Given the description of an element on the screen output the (x, y) to click on. 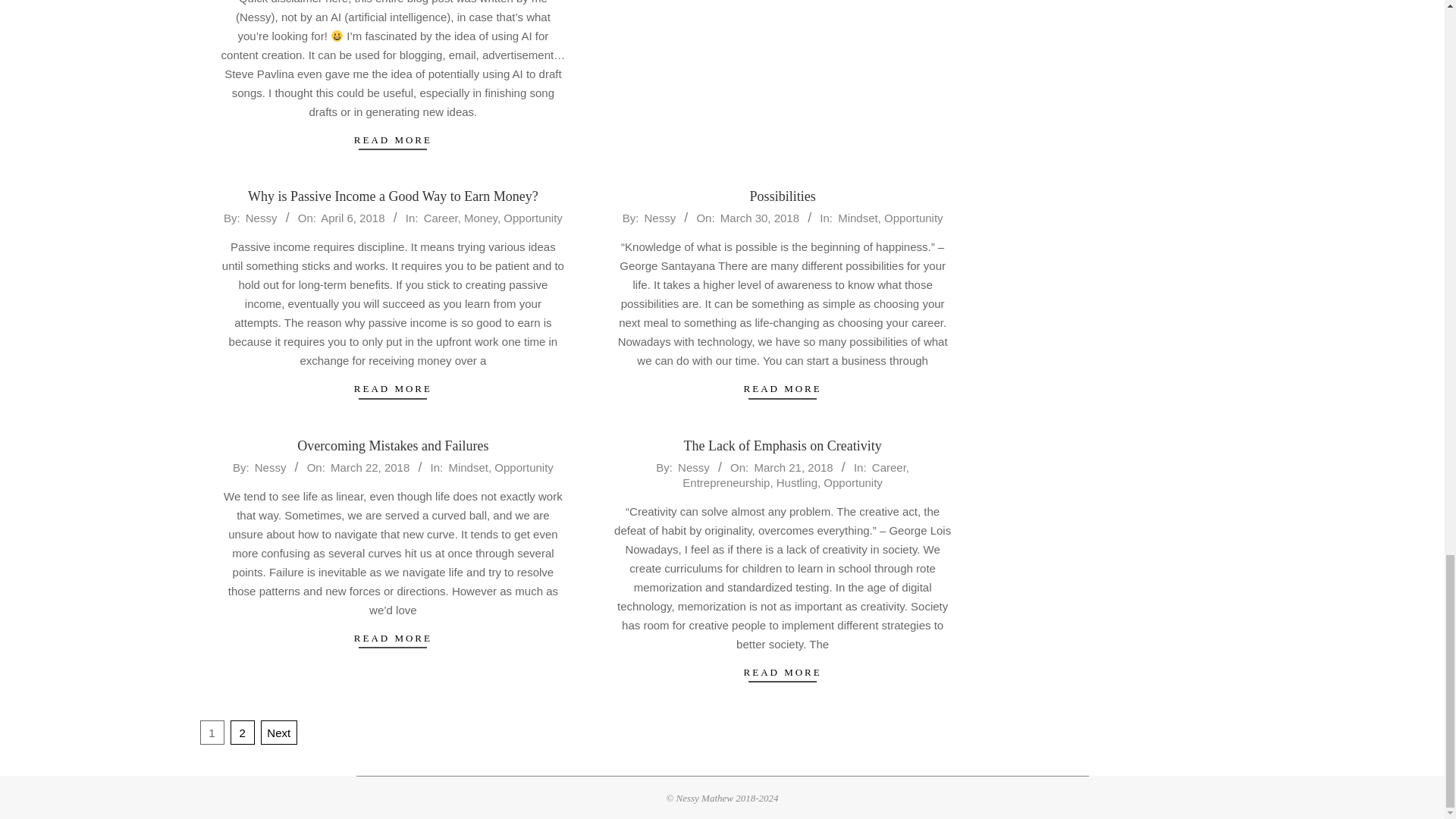
Posts by Nessy (262, 217)
Friday, April 6, 2018, 4:16 pm (352, 217)
Posts by Nessy (659, 217)
Friday, March 30, 2018, 3:30 pm (759, 217)
